Given the description of an element on the screen output the (x, y) to click on. 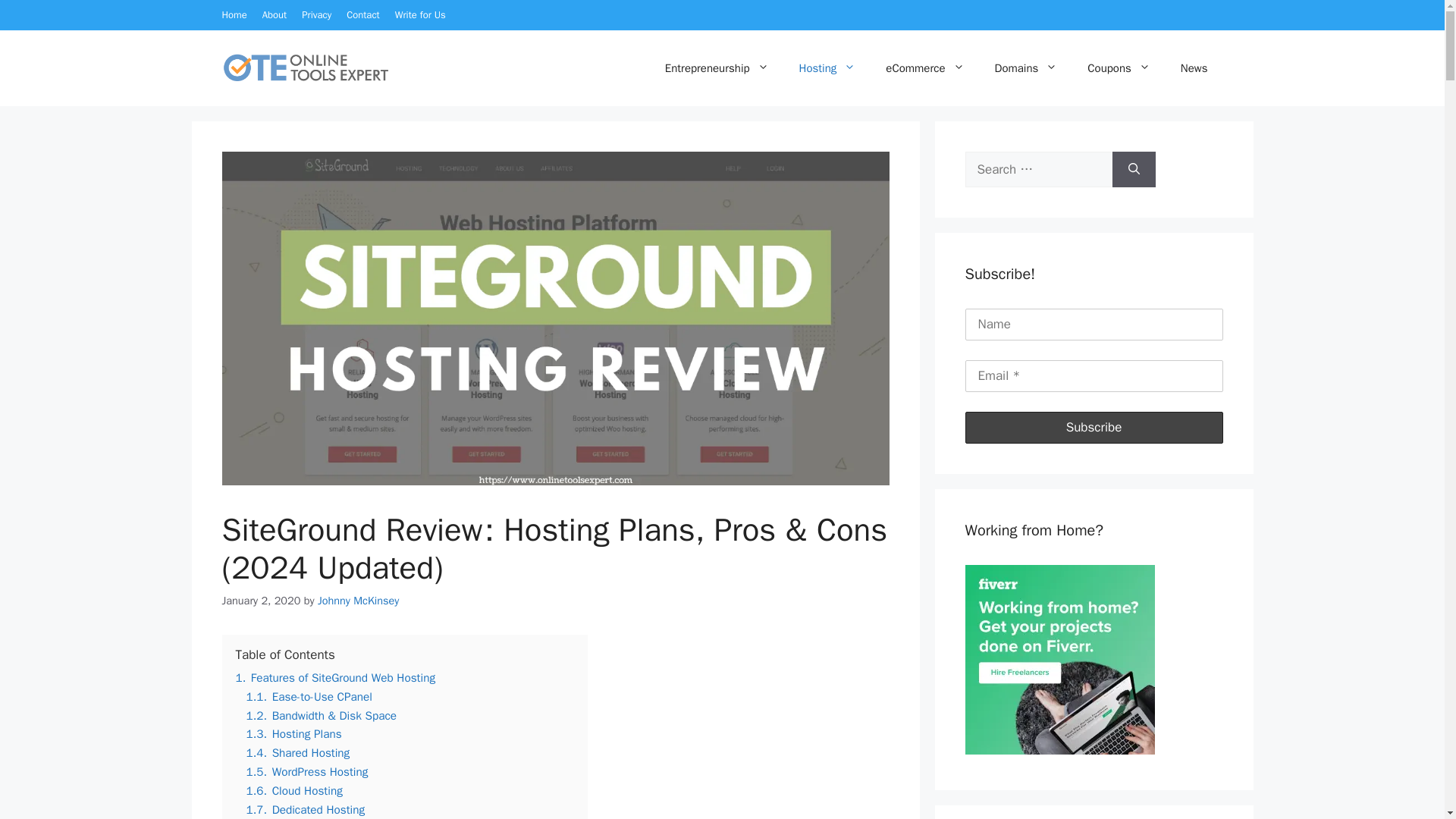
Search for: (1037, 169)
eCommerce (924, 67)
Privacy (316, 14)
View all posts by Johnny McKinsey (357, 599)
About (274, 14)
Contact (363, 14)
Write for Us (419, 14)
News (1194, 67)
Johnny McKinsey (357, 599)
Entrepreneurship (716, 67)
Home (233, 14)
Domains (1026, 67)
Coupons (1118, 67)
Subscribe (1093, 427)
Hosting (827, 67)
